Given the description of an element on the screen output the (x, y) to click on. 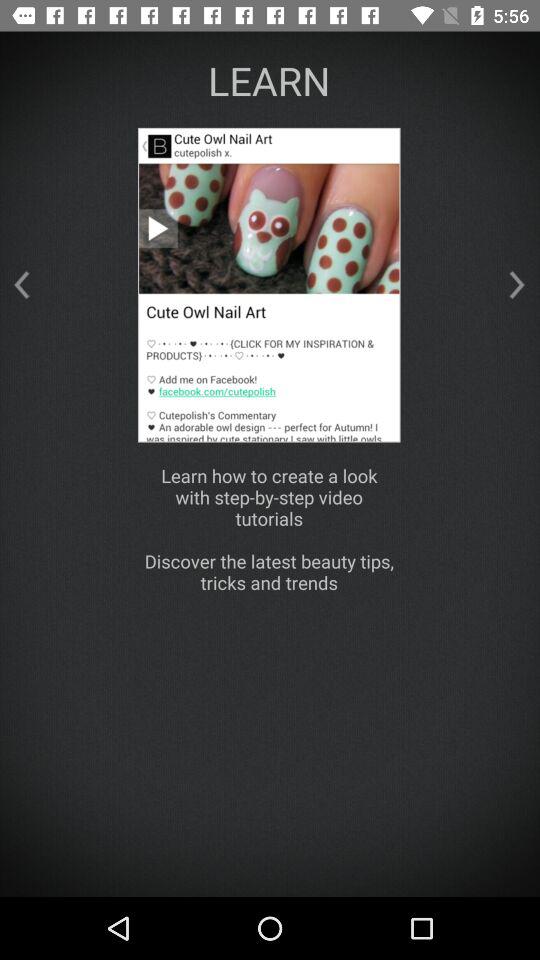
click icon at the top right corner (517, 284)
